Given the description of an element on the screen output the (x, y) to click on. 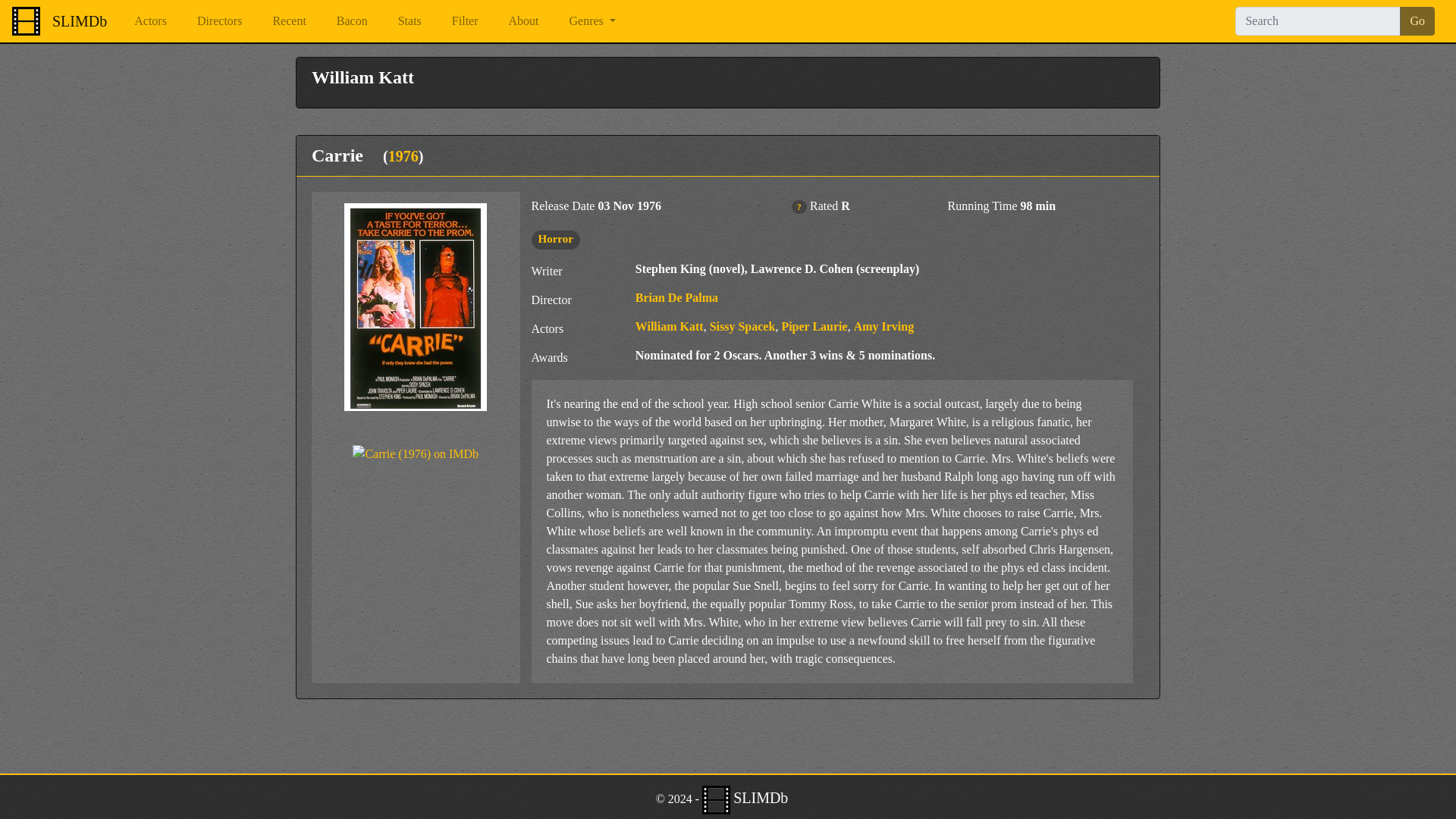
Actors (150, 20)
1976 (403, 156)
Sissy Spacek (743, 326)
Horror (555, 238)
About (523, 20)
Recent (288, 20)
Bacon (352, 20)
Genres (592, 20)
Directors (219, 20)
SLIMDb (79, 20)
